Given the description of an element on the screen output the (x, y) to click on. 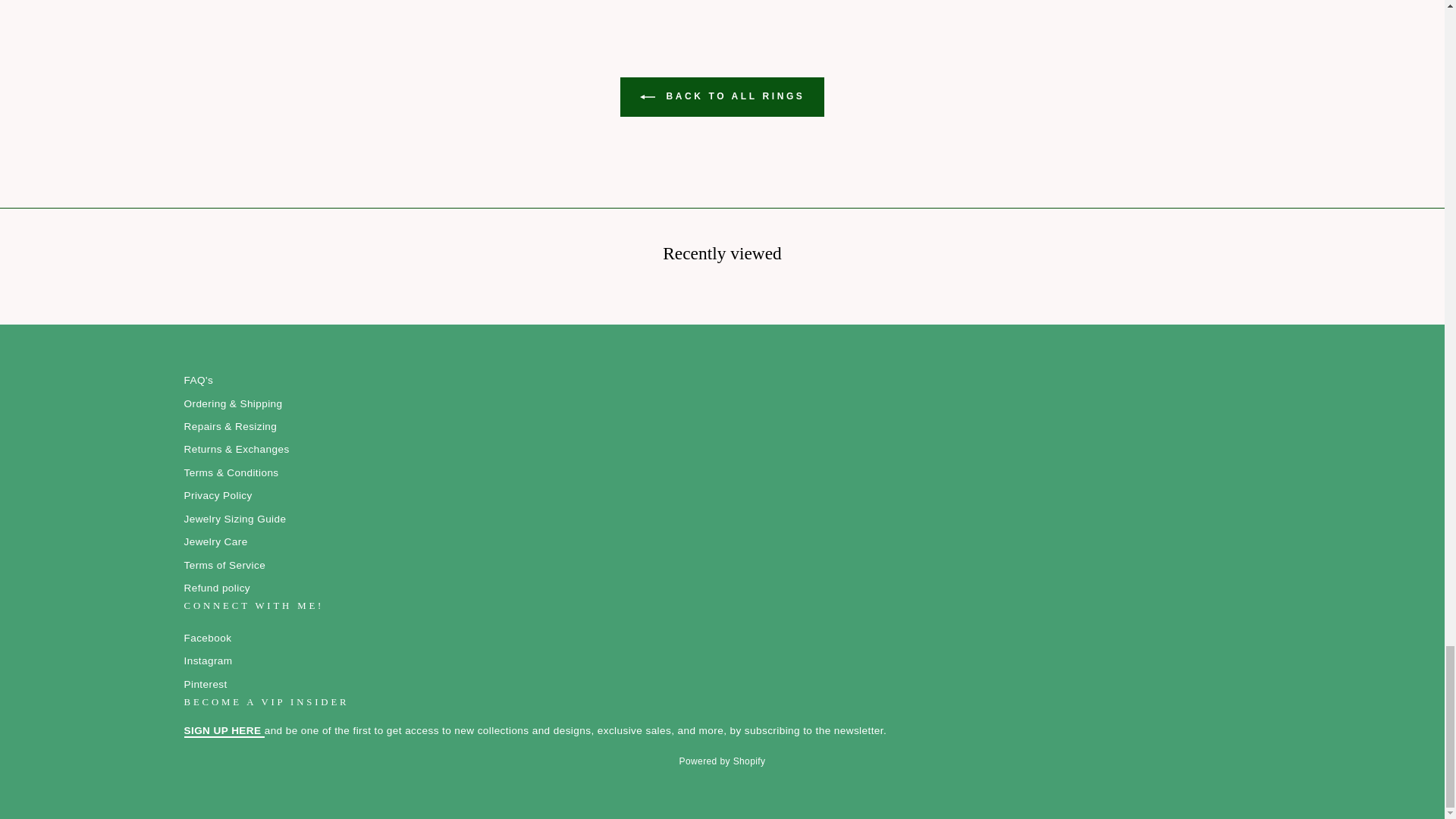
Become A VIP Insider (223, 730)
